Given the description of an element on the screen output the (x, y) to click on. 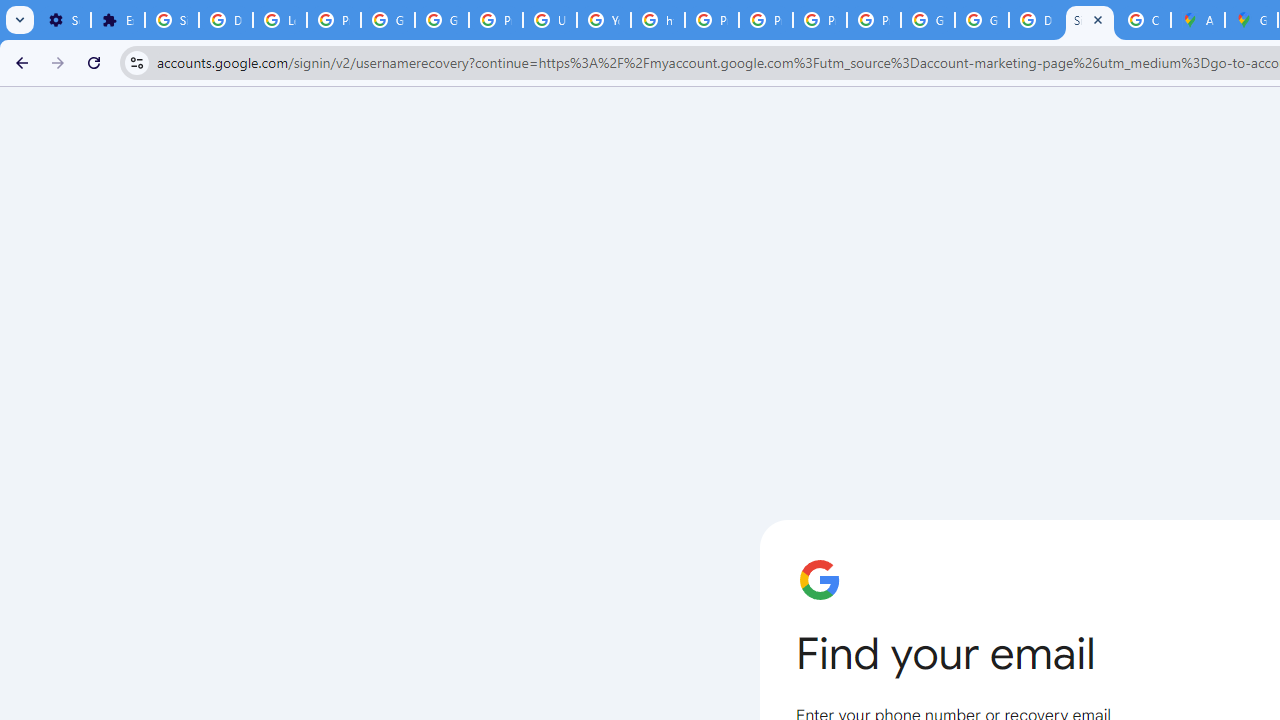
Settings - On startup (63, 20)
Sign in - Google Accounts (171, 20)
Delete photos & videos - Computer - Google Photos Help (225, 20)
Google Account Help (387, 20)
YouTube (604, 20)
